Given the description of an element on the screen output the (x, y) to click on. 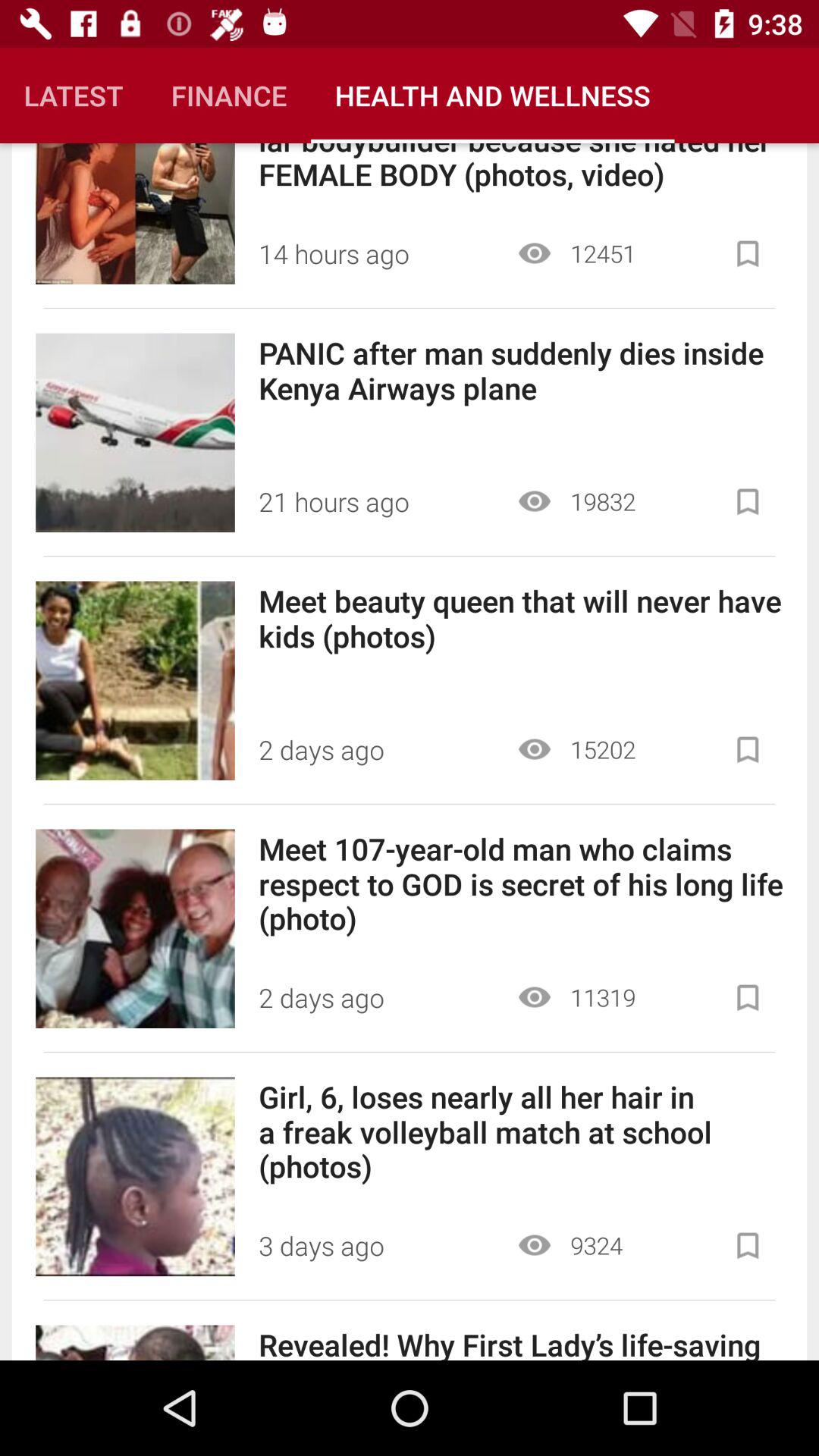
go to flag option (747, 1245)
